Given the description of an element on the screen output the (x, y) to click on. 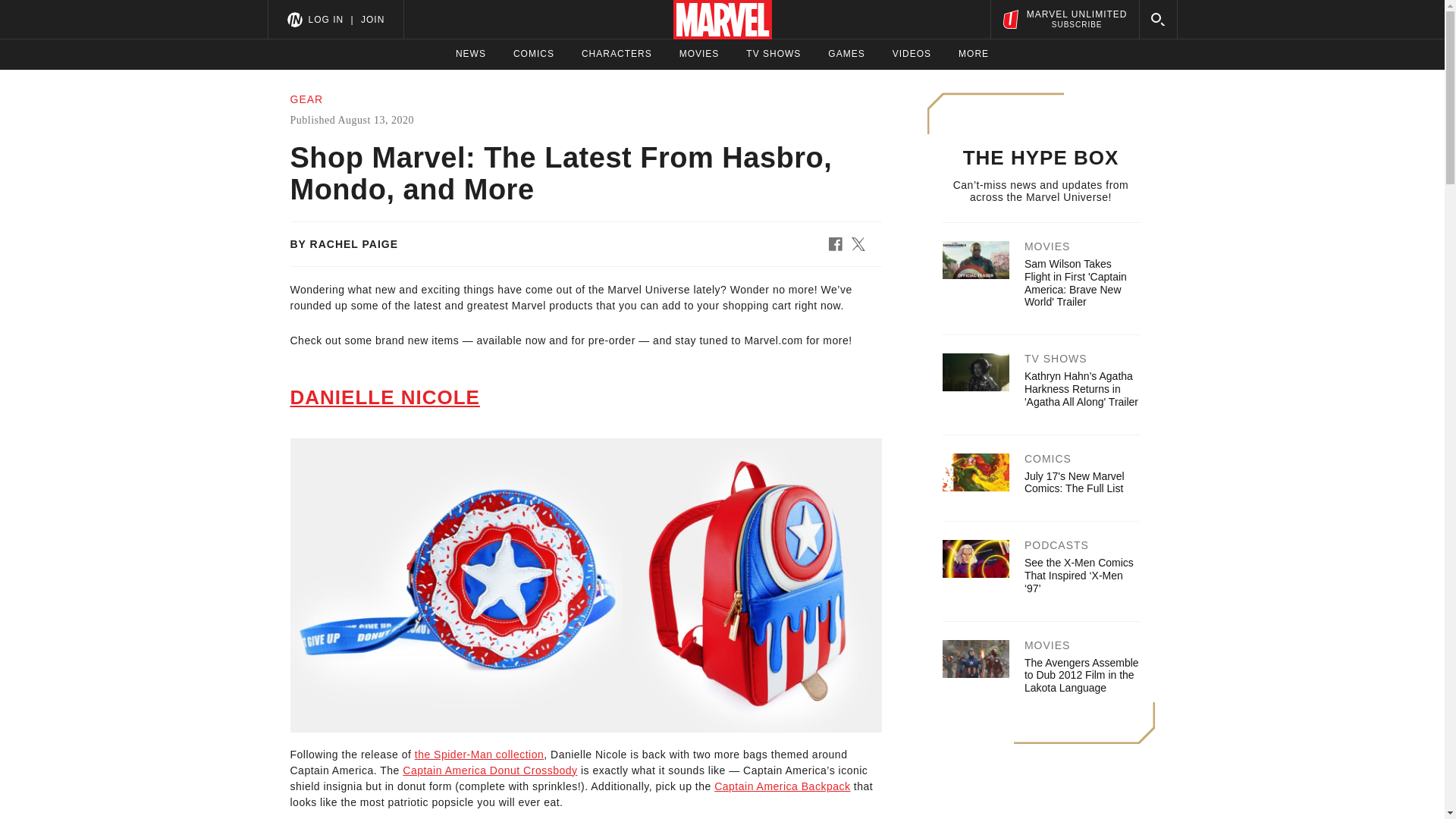
DANIELLE NICOLE (384, 396)
GAMES (846, 54)
LOG IN (325, 18)
Captain America Donut Crossbody (489, 770)
COMICS (533, 54)
TV SHOWS (772, 54)
Captain America Backpack (782, 786)
JOIN (372, 18)
MOVIES (699, 54)
the Spider-Man collection (1064, 19)
VIDEOS (478, 754)
CHARACTERS (911, 54)
MORE (616, 54)
NEWS (973, 54)
